Given the description of an element on the screen output the (x, y) to click on. 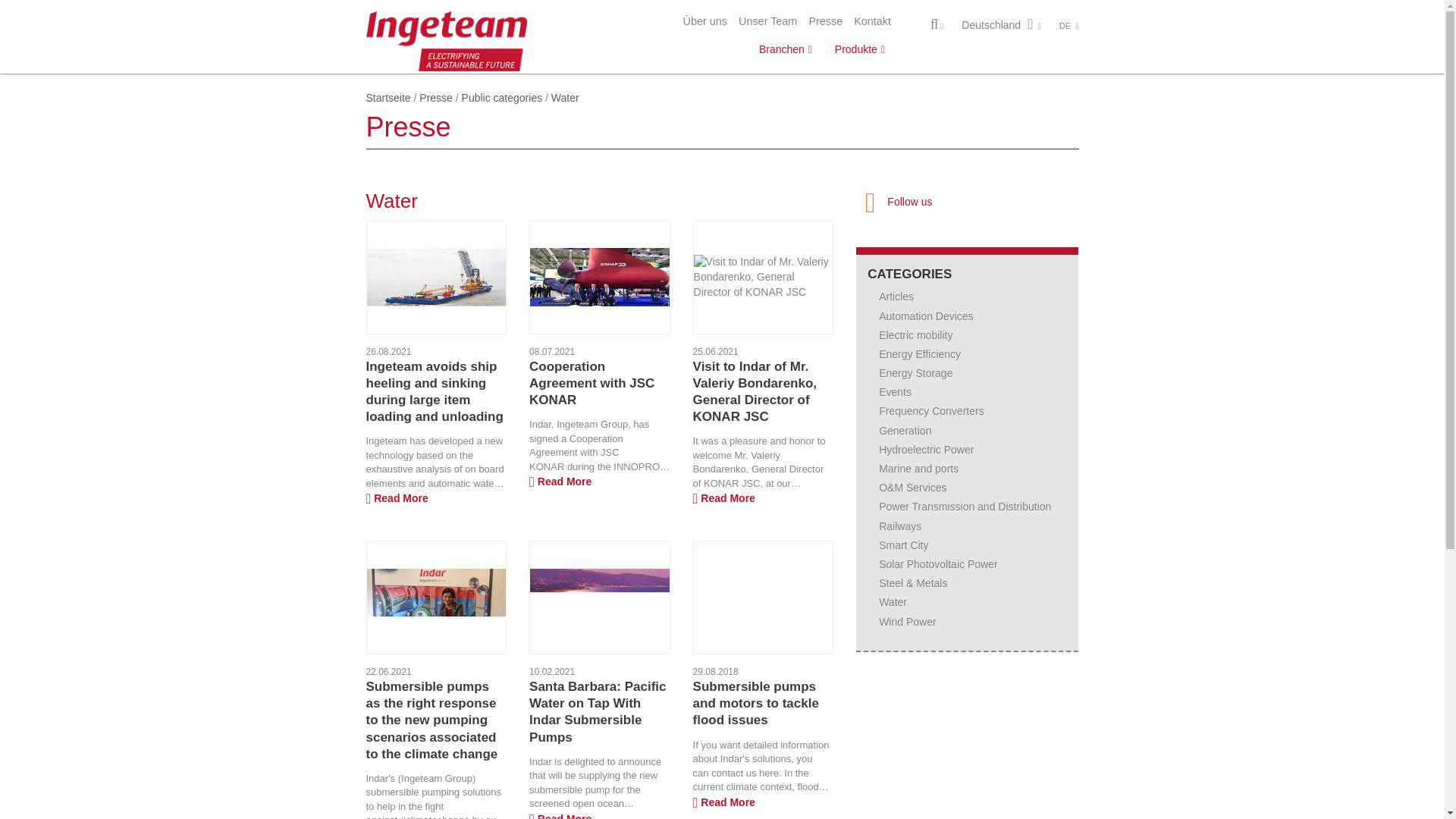
Presse (825, 21)
Kontakt (872, 21)
Unser Team (767, 21)
Ingeteam (446, 39)
